Given the description of an element on the screen output the (x, y) to click on. 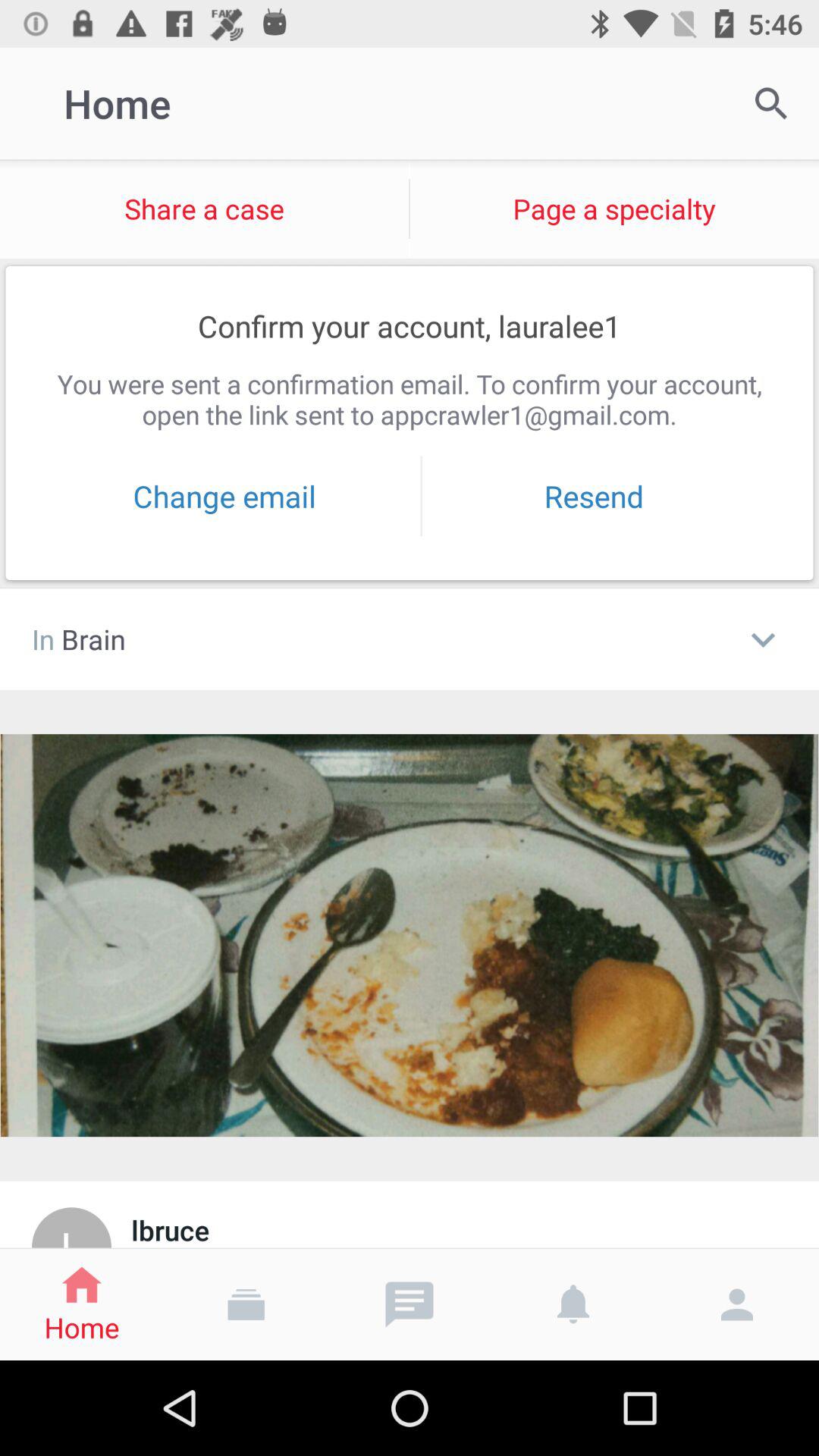
click in brain item (379, 639)
